Given the description of an element on the screen output the (x, y) to click on. 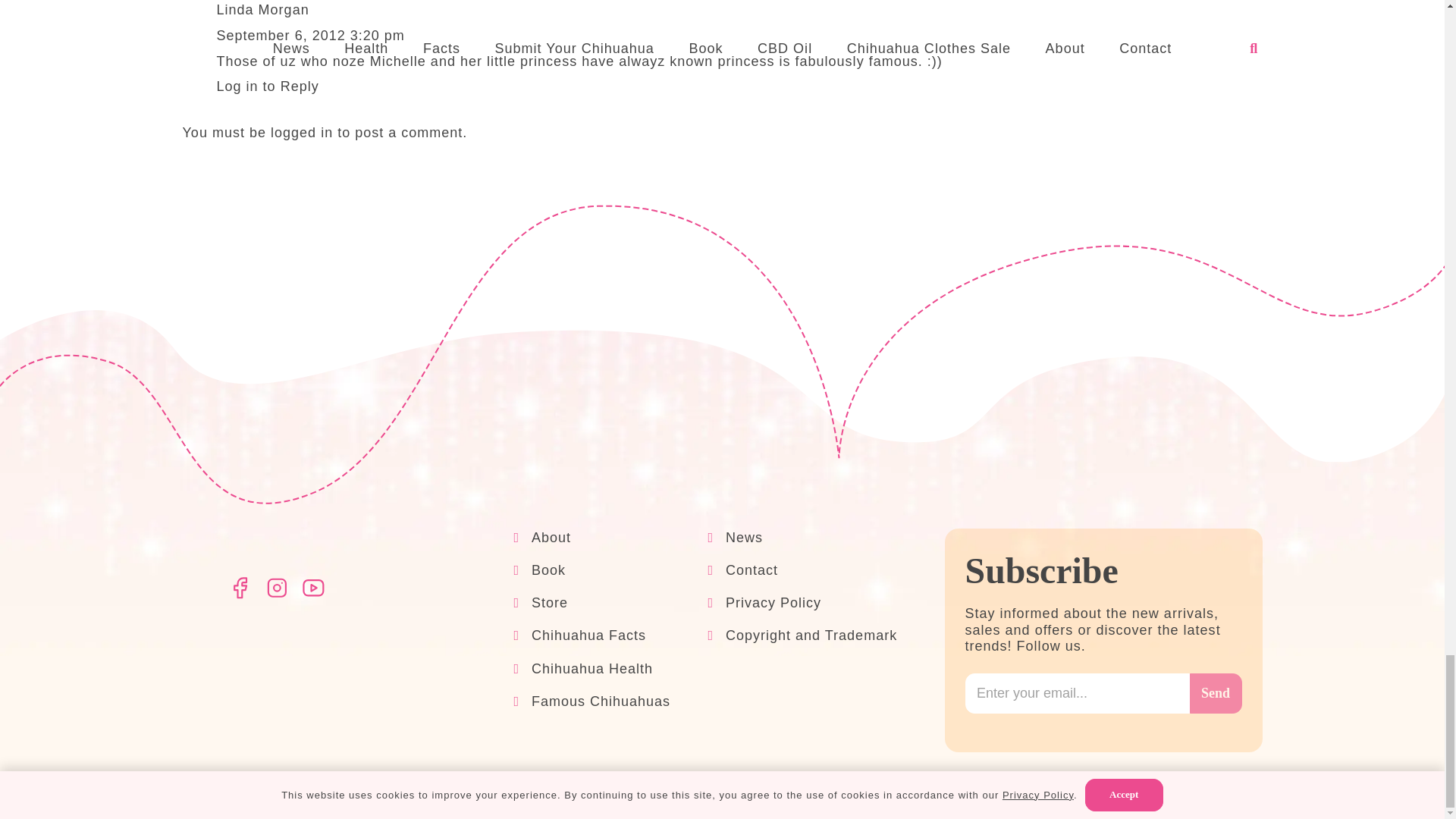
September 6, 2012 3:20 pm (310, 35)
Send (1215, 693)
September 6, 2012 3:20 pm (310, 35)
logged in (301, 132)
Log in to Reply (267, 86)
